Given the description of an element on the screen output the (x, y) to click on. 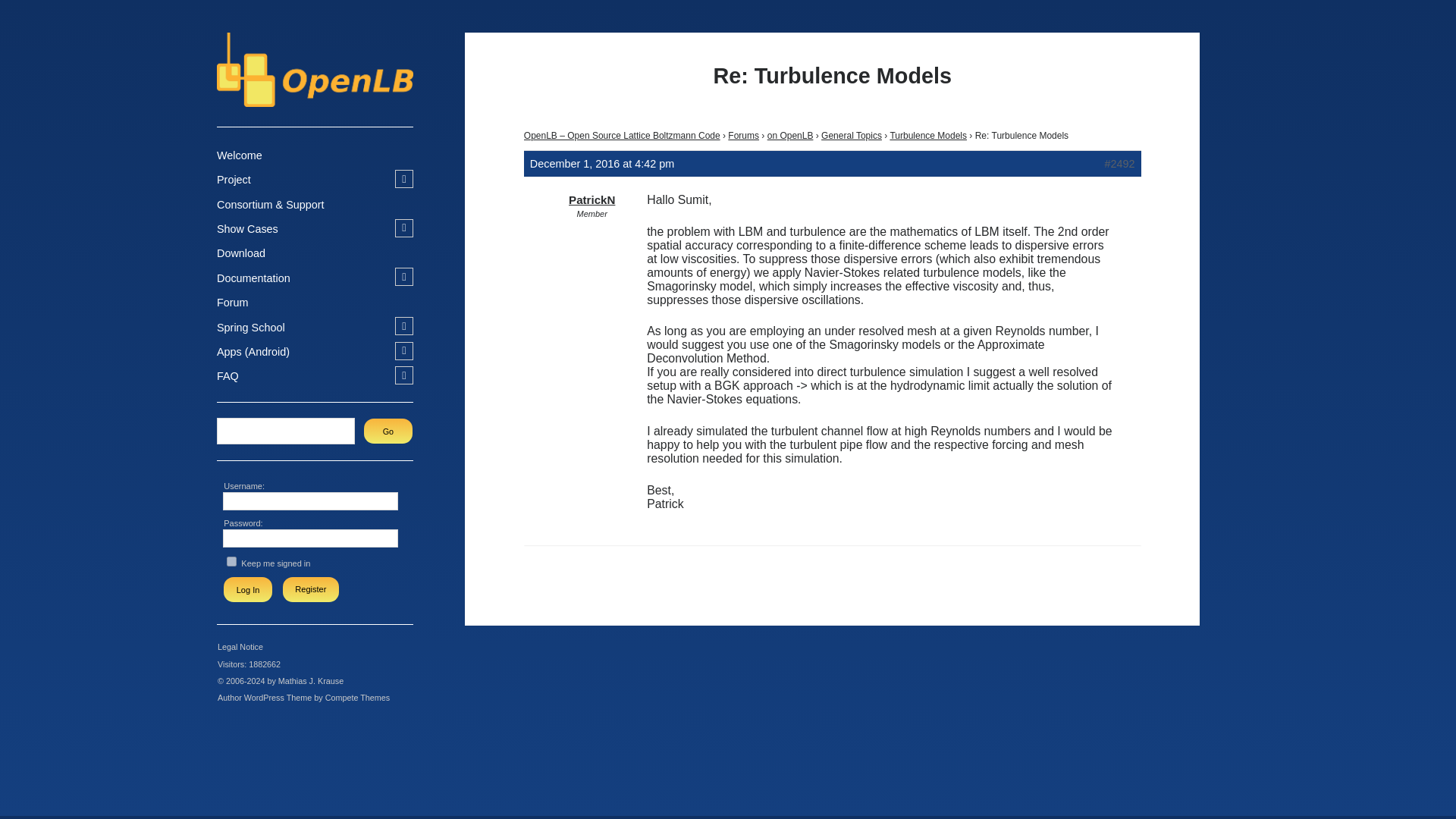
open child menu (403, 178)
Go (388, 430)
Project (233, 180)
Go (388, 430)
Show Cases (247, 229)
Welcome (239, 156)
Search for: (284, 430)
OpenLB - Open source lattice Boltzmann code (314, 99)
forever (231, 561)
open child menu (403, 228)
Register (310, 589)
View PatrickN's profile (591, 200)
